Given the description of an element on the screen output the (x, y) to click on. 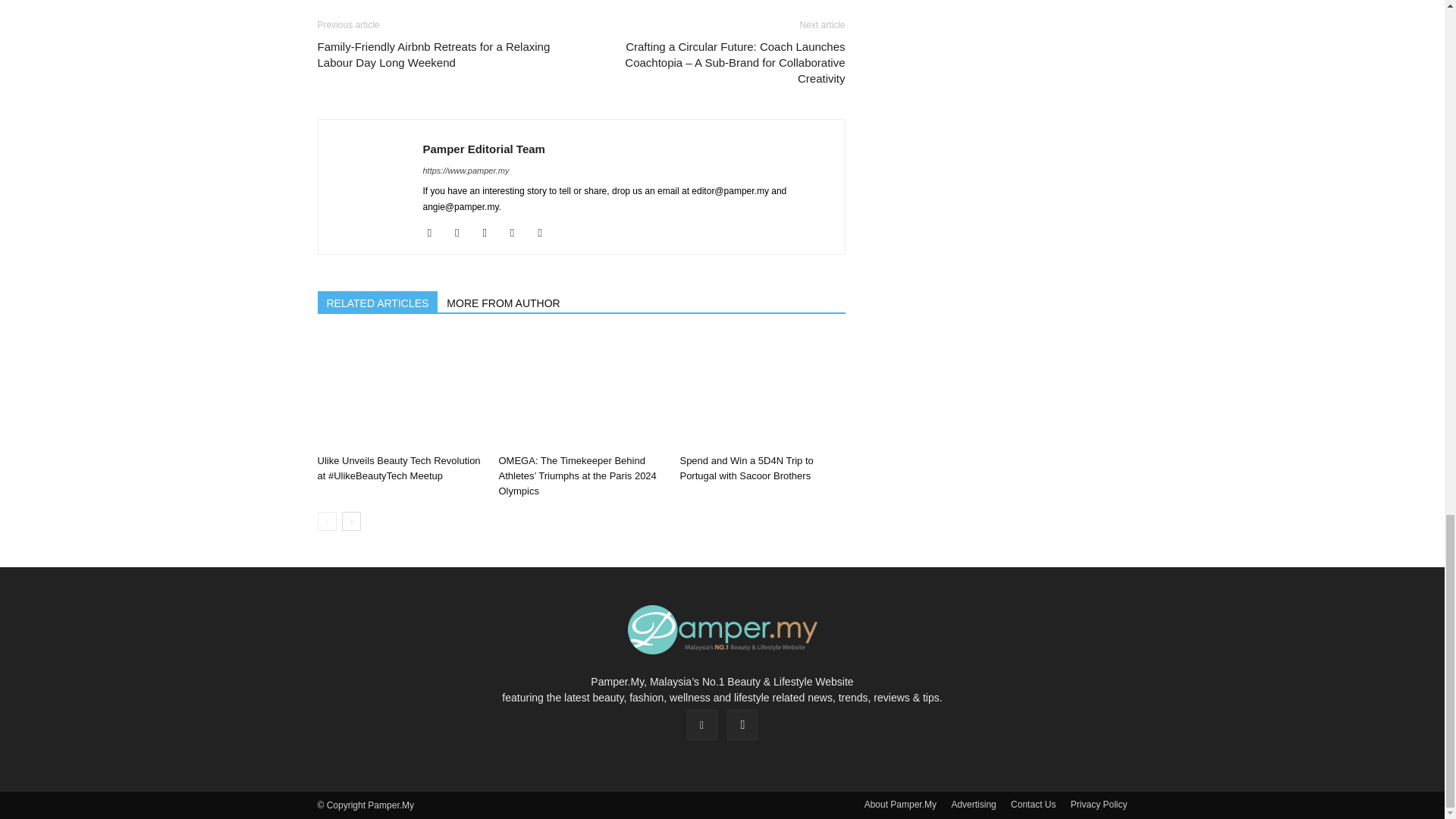
Youtube (544, 232)
Twitter (518, 232)
Instagram (489, 232)
Facebook (435, 232)
